Given the description of an element on the screen output the (x, y) to click on. 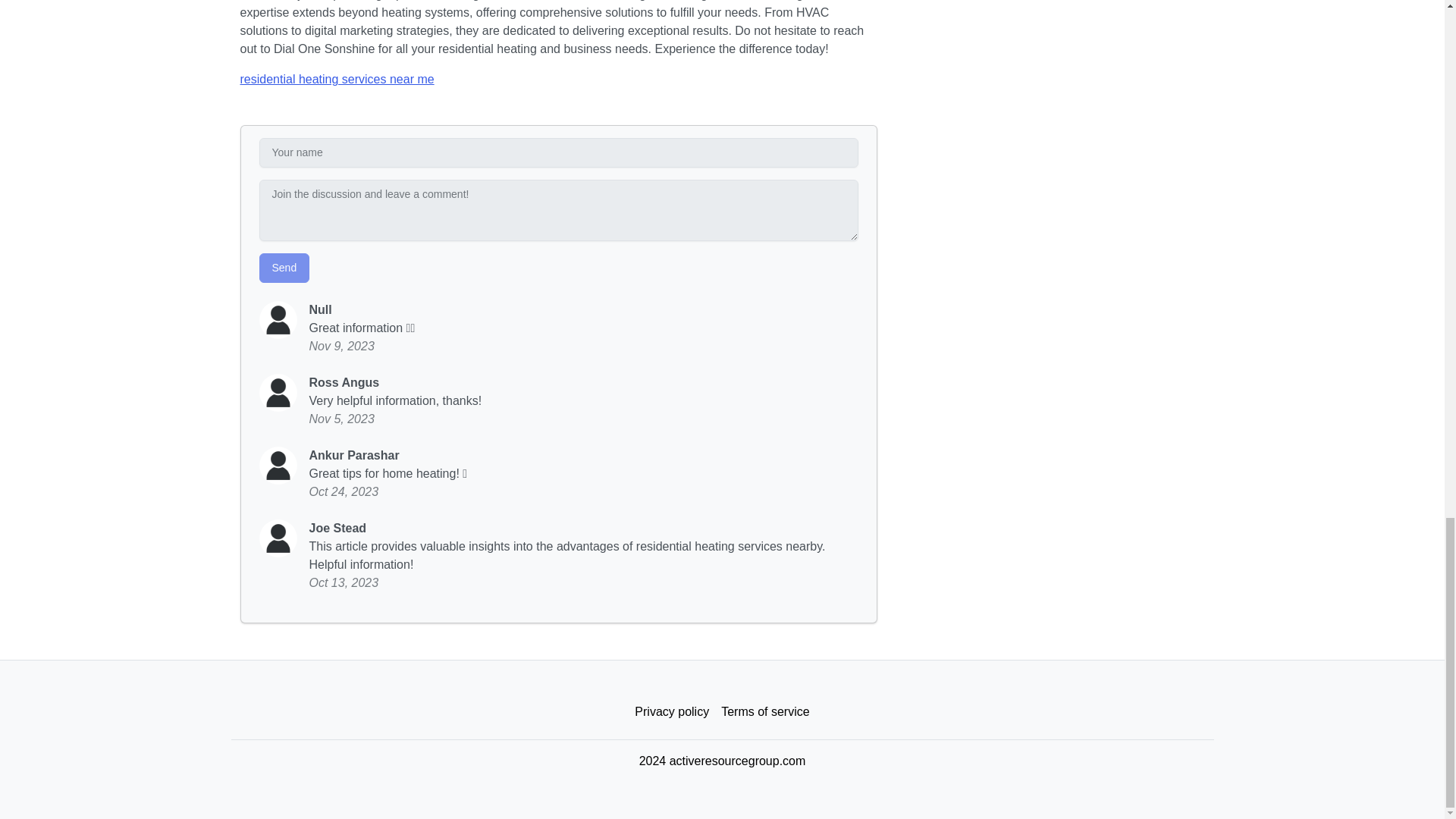
Send (284, 267)
Privacy policy (671, 711)
Terms of service (764, 711)
Send (284, 267)
residential heating services near me (336, 78)
